Given the description of an element on the screen output the (x, y) to click on. 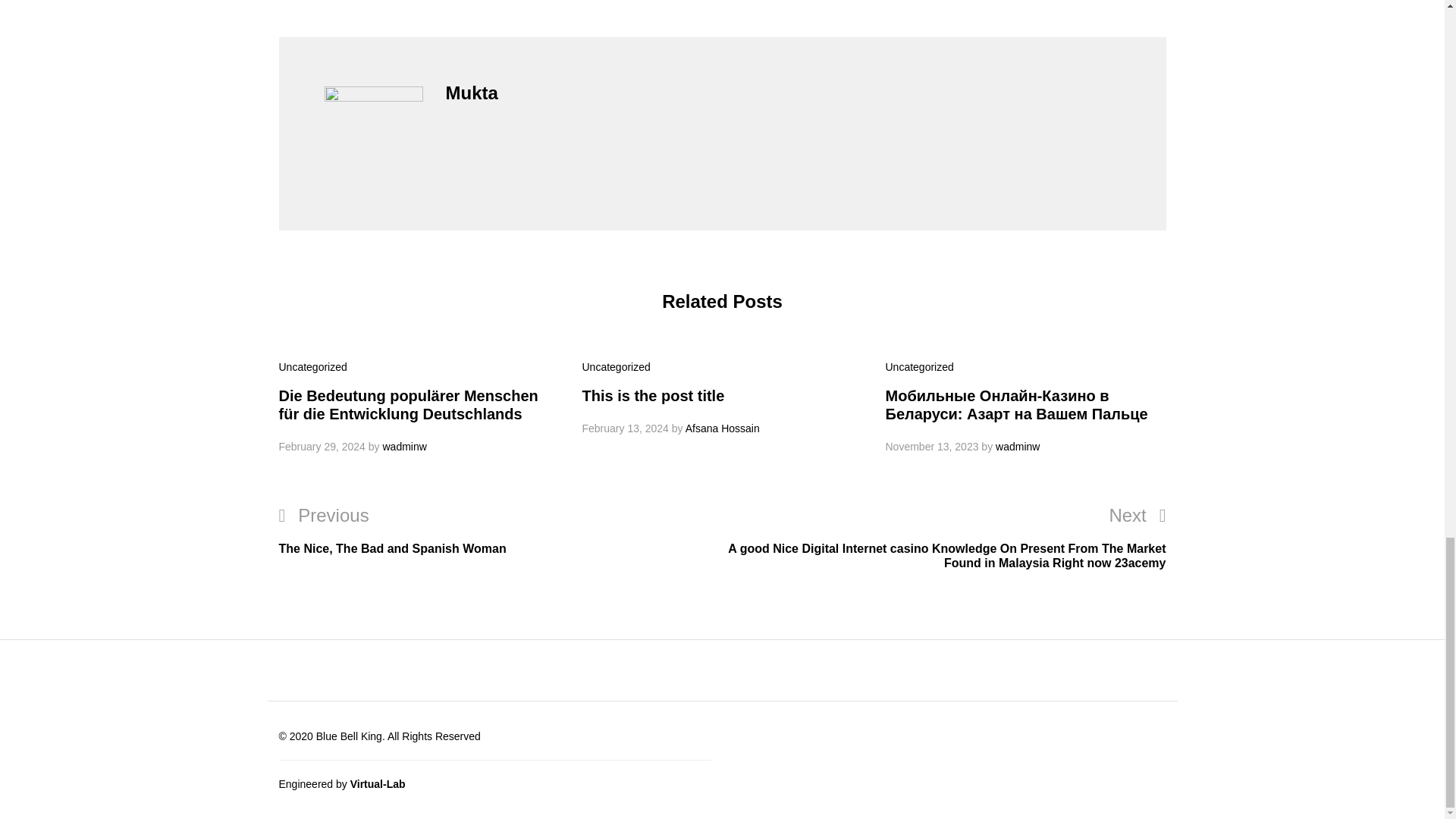
November 13, 2023 (931, 446)
Uncategorized (616, 367)
Afsana Hossain (722, 428)
February 29, 2024 (500, 530)
This is the post title (322, 446)
Uncategorized (653, 395)
Uncategorized (313, 367)
wadminw (919, 367)
